Given the description of an element on the screen output the (x, y) to click on. 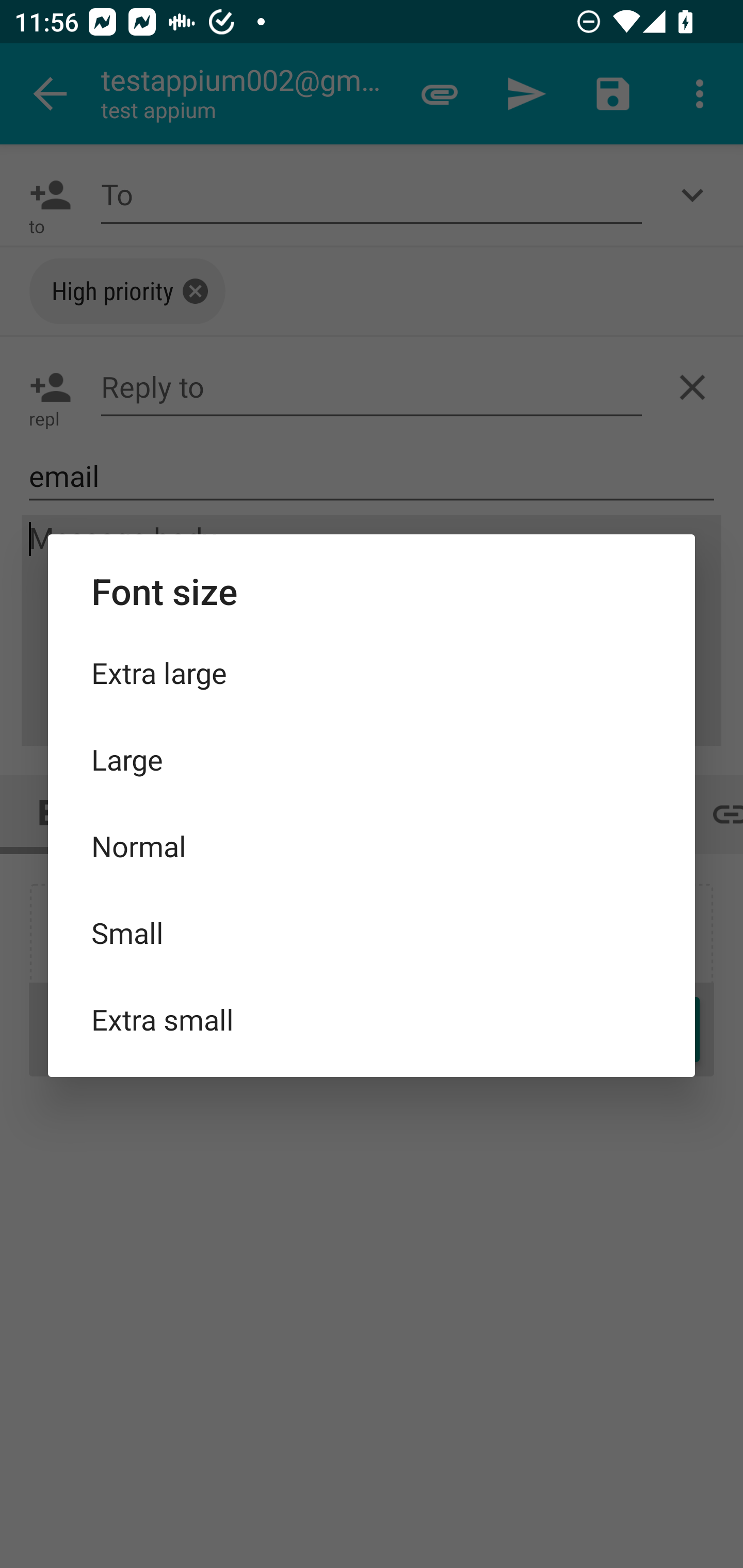
Extra large (371, 672)
Large (371, 759)
Normal (371, 845)
Small (371, 932)
Extra small (371, 1019)
